Given the description of an element on the screen output the (x, y) to click on. 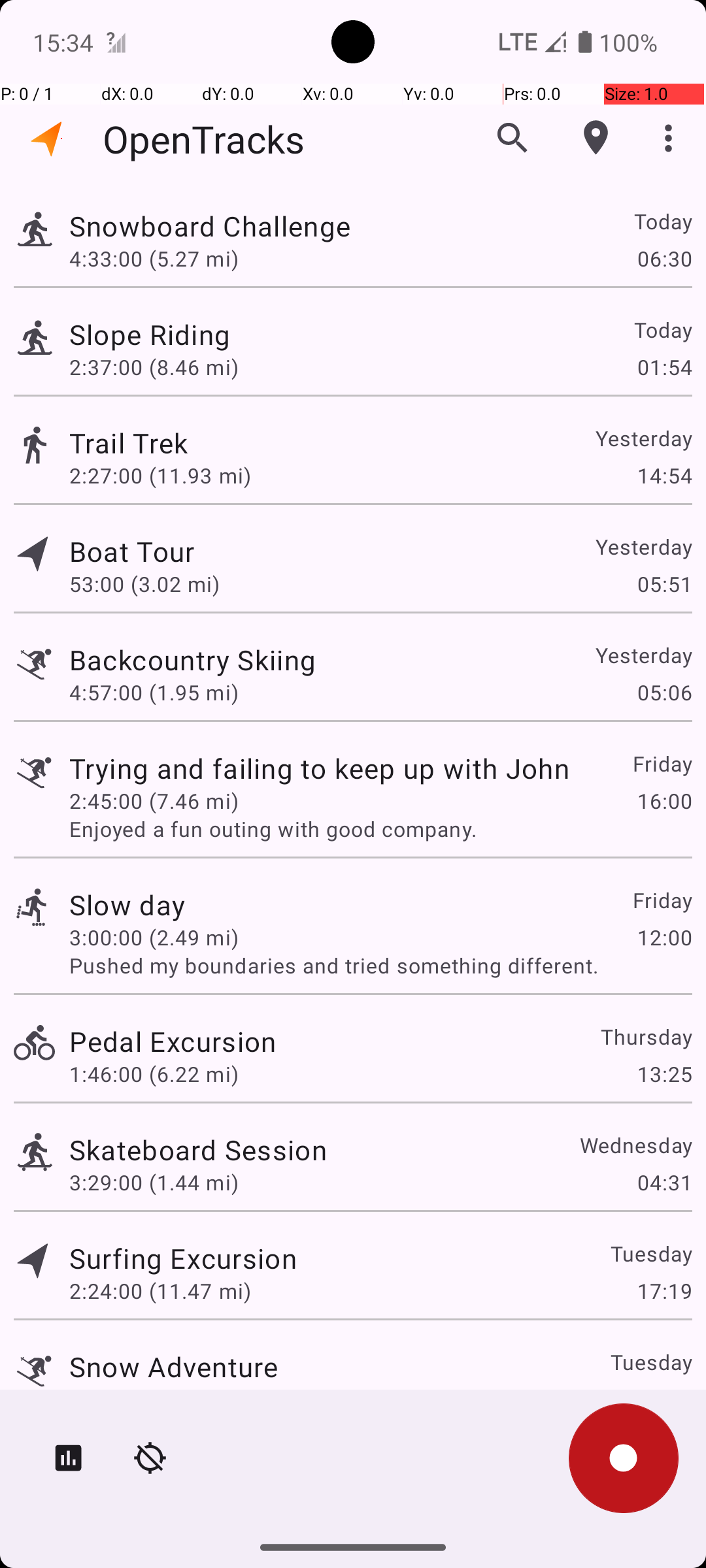
Snowboard Challenge Element type: android.widget.TextView (209, 225)
4:33:00 (5.27 mi) Element type: android.widget.TextView (153, 258)
06:30 Element type: android.widget.TextView (664, 258)
Slope Riding Element type: android.widget.TextView (149, 333)
2:37:00 (8.46 mi) Element type: android.widget.TextView (153, 366)
01:54 Element type: android.widget.TextView (664, 366)
Trail Trek Element type: android.widget.TextView (128, 442)
2:27:00 (11.93 mi) Element type: android.widget.TextView (159, 475)
14:54 Element type: android.widget.TextView (664, 475)
Boat Tour Element type: android.widget.TextView (131, 550)
53:00 (3.02 mi) Element type: android.widget.TextView (144, 583)
05:51 Element type: android.widget.TextView (664, 583)
Backcountry Skiing Element type: android.widget.TextView (192, 659)
4:57:00 (1.95 mi) Element type: android.widget.TextView (153, 692)
05:06 Element type: android.widget.TextView (664, 692)
Trying and failing to keep up with John Element type: android.widget.TextView (319, 767)
2:45:00 (7.46 mi) Element type: android.widget.TextView (153, 800)
Enjoyed a fun outing with good company. Element type: android.widget.TextView (380, 828)
Slow day Element type: android.widget.TextView (126, 904)
3:00:00 (2.49 mi) Element type: android.widget.TextView (153, 937)
Pushed my boundaries and tried something different. Element type: android.widget.TextView (380, 965)
Pedal Excursion Element type: android.widget.TextView (172, 1040)
1:46:00 (6.22 mi) Element type: android.widget.TextView (153, 1073)
13:25 Element type: android.widget.TextView (664, 1073)
Skateboard Session Element type: android.widget.TextView (197, 1149)
3:29:00 (1.44 mi) Element type: android.widget.TextView (153, 1182)
04:31 Element type: android.widget.TextView (664, 1182)
Surfing Excursion Element type: android.widget.TextView (182, 1257)
2:24:00 (11.47 mi) Element type: android.widget.TextView (159, 1290)
17:19 Element type: android.widget.TextView (664, 1290)
Snow Adventure Element type: android.widget.TextView (173, 1366)
2:29:00 (3.59 mi) Element type: android.widget.TextView (153, 1399)
12:41 Element type: android.widget.TextView (664, 1399)
